Given the description of an element on the screen output the (x, y) to click on. 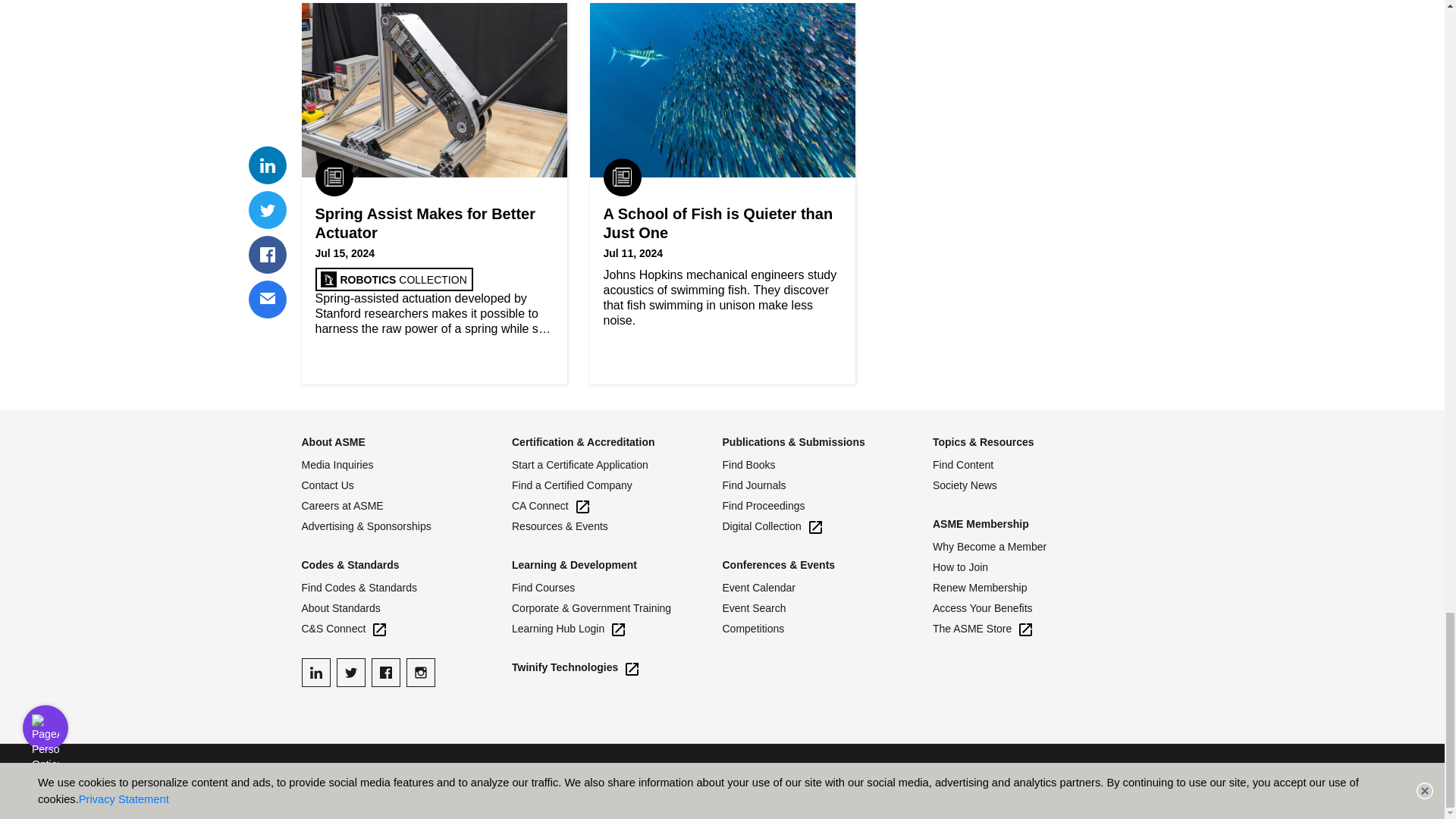
ASME on Twitter (350, 672)
About ASME (333, 441)
ASME on Facebook (385, 672)
ASME on Instagram (420, 672)
ASME on LinkedIn (315, 672)
